Given the description of an element on the screen output the (x, y) to click on. 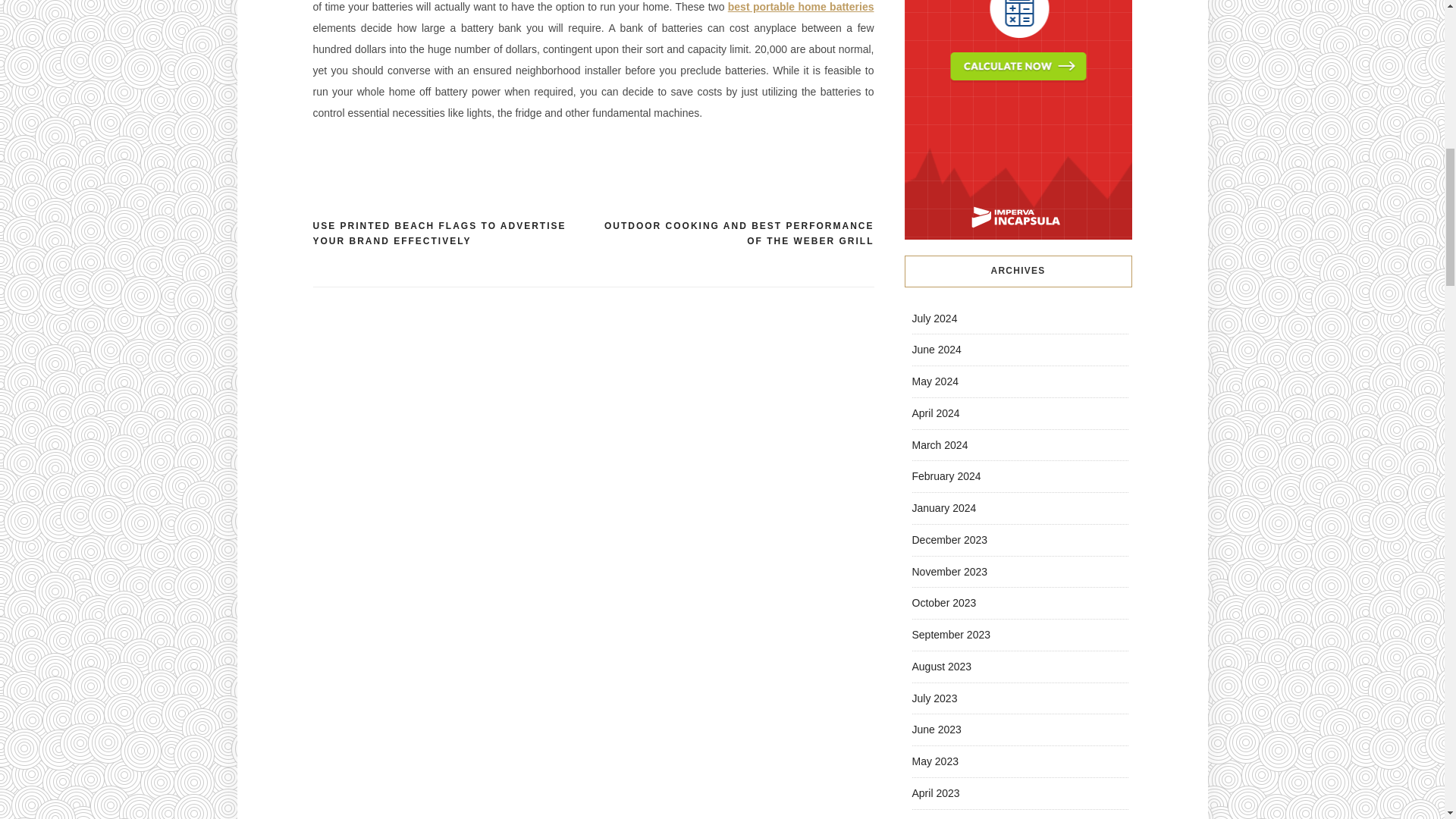
June 2023 (935, 729)
December 2023 (949, 539)
January 2024 (943, 508)
February 2024 (945, 476)
July 2024 (933, 318)
April 2023 (935, 793)
May 2024 (934, 381)
July 2023 (933, 697)
May 2023 (934, 761)
OUTDOOR COOKING AND BEST PERFORMANCE OF THE WEBER GRILL (732, 233)
June 2024 (935, 349)
September 2023 (950, 634)
October 2023 (943, 603)
USE PRINTED BEACH FLAGS TO ADVERTISE YOUR BRAND EFFECTIVELY (452, 233)
November 2023 (949, 571)
